Given the description of an element on the screen output the (x, y) to click on. 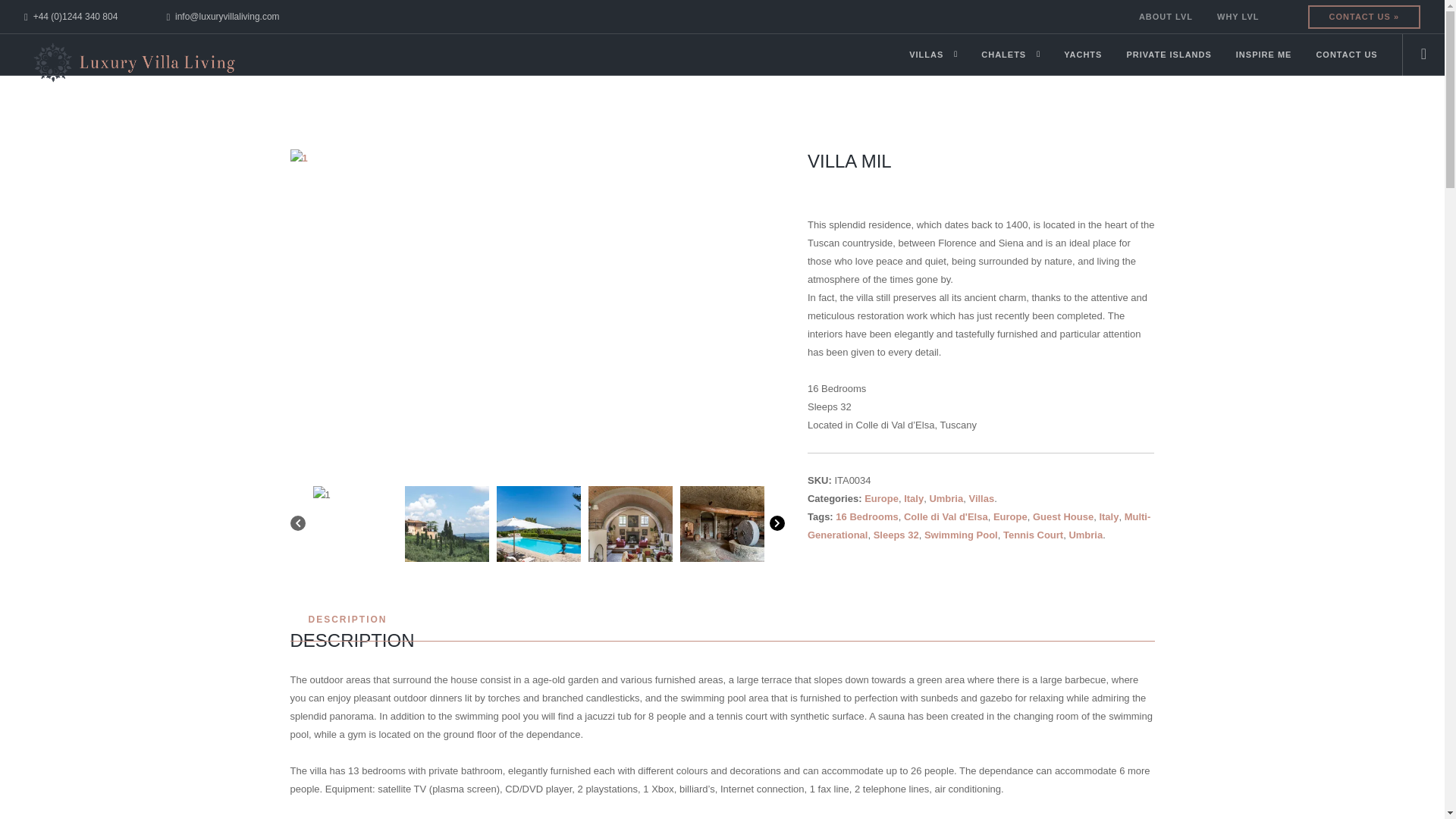
Download Factsheet (630, 528)
Download Factsheet (354, 528)
Download Factsheet (537, 528)
ABOUT LVL (1165, 16)
WHY LVL (1238, 16)
Download Factsheet (720, 528)
Download Factsheet (446, 528)
